Given the description of an element on the screen output the (x, y) to click on. 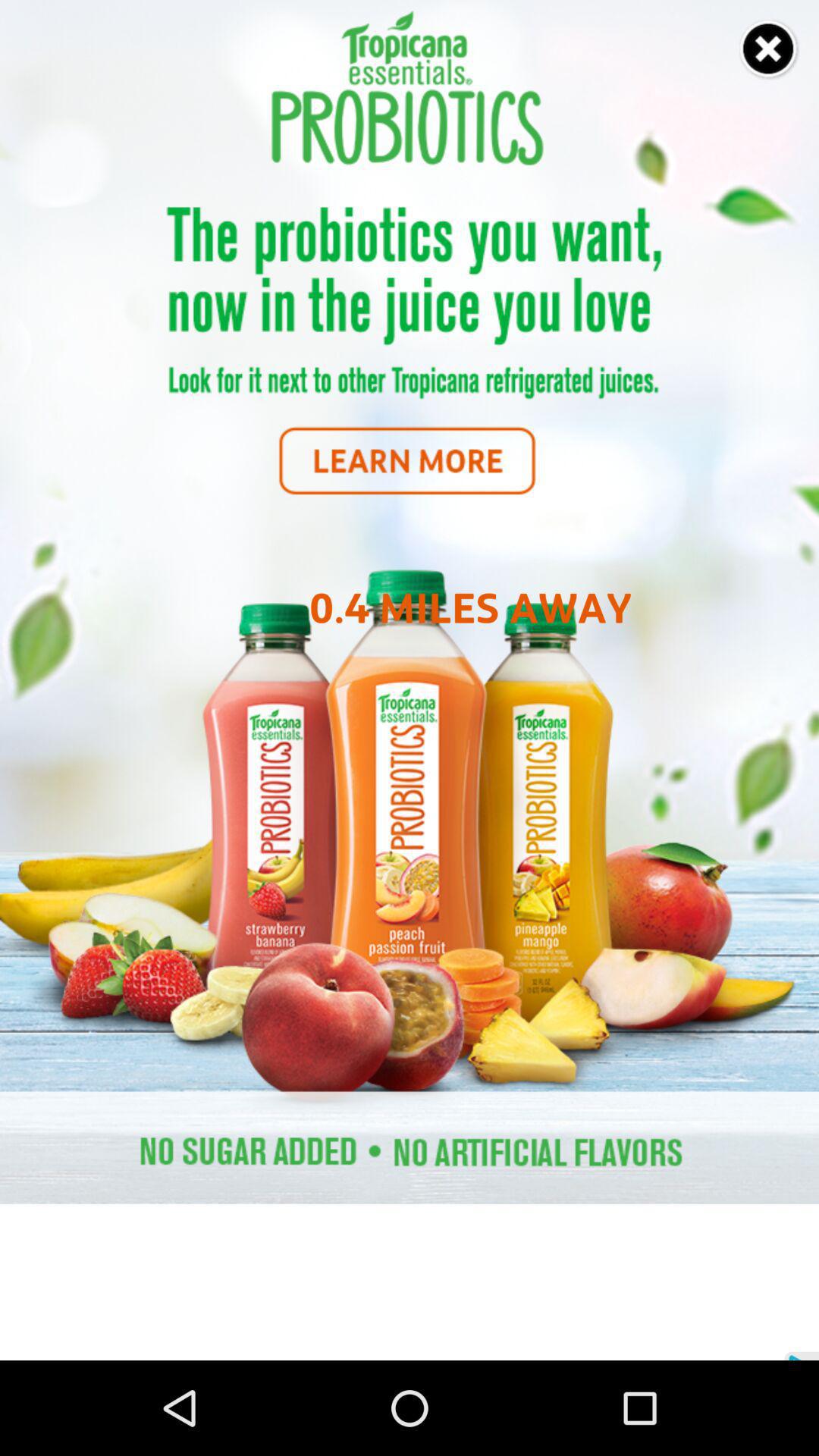
close screen (769, 49)
